Given the description of an element on the screen output the (x, y) to click on. 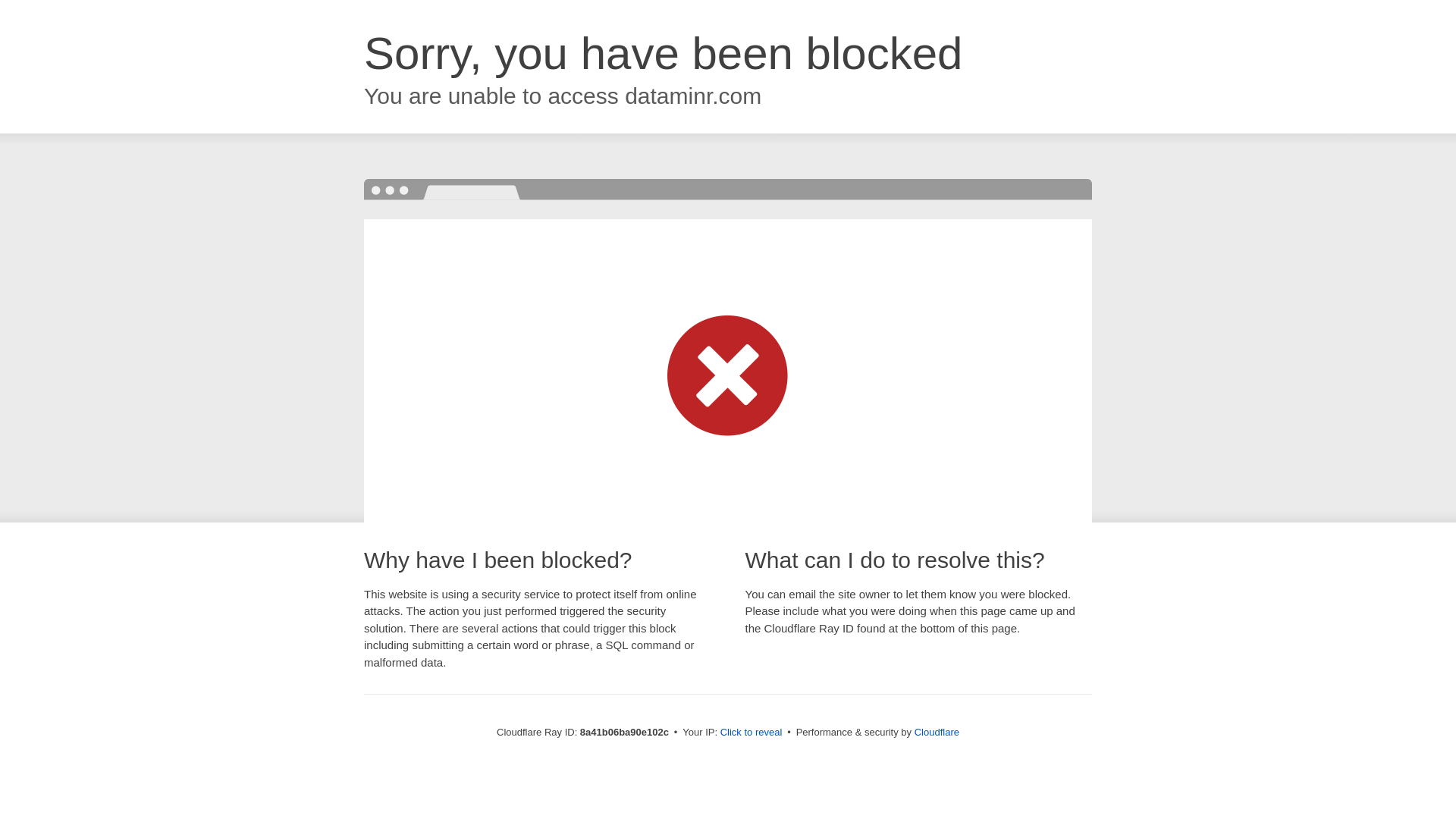
Cloudflare (936, 731)
Click to reveal (751, 732)
